Given the description of an element on the screen output the (x, y) to click on. 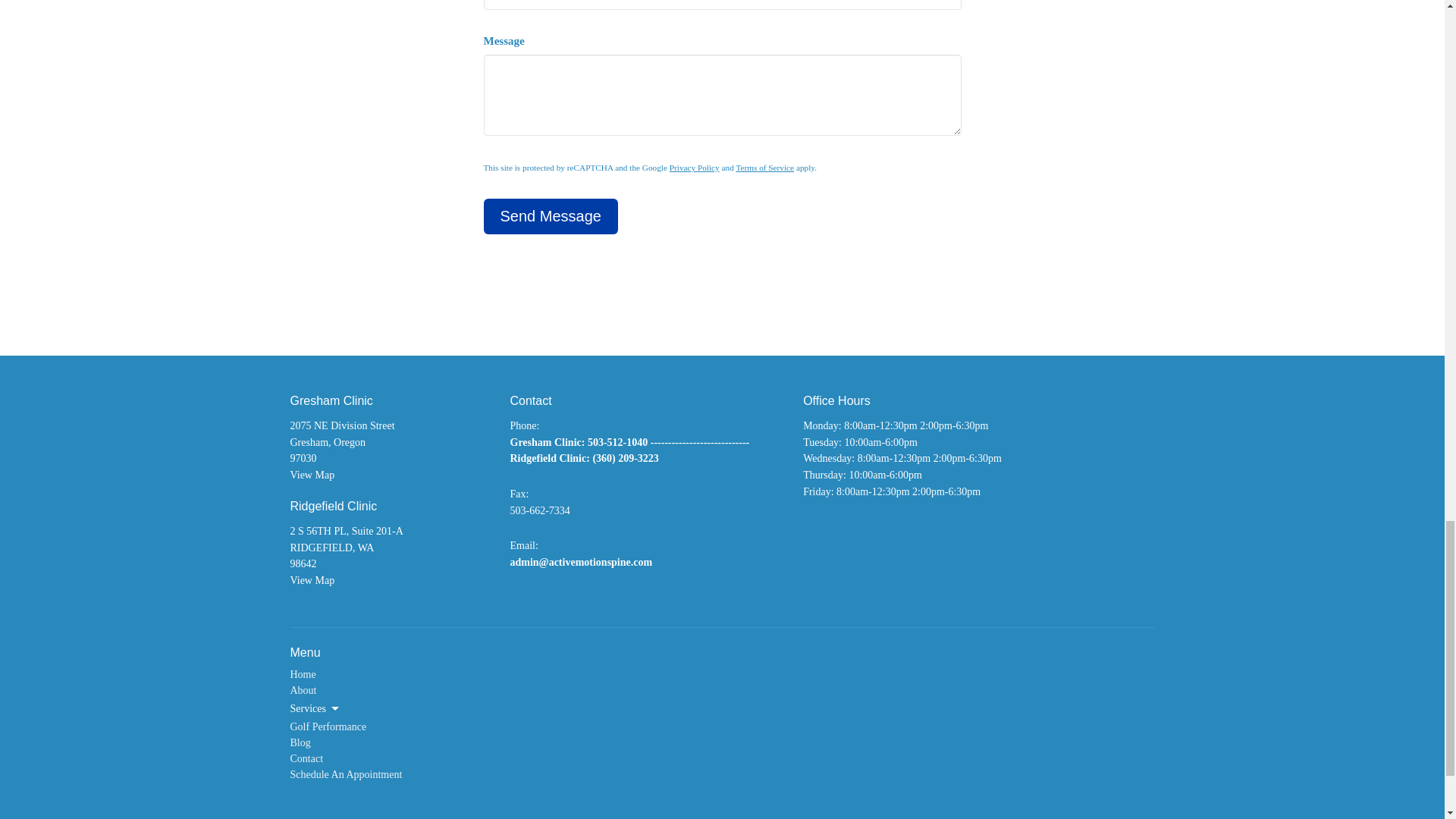
Services (314, 708)
translation missing: en.ui.fax (517, 493)
Blog (299, 742)
View Map (311, 580)
View Map (311, 474)
Contact (306, 758)
Terms of Service (764, 166)
About (302, 690)
Privacy Policy (694, 166)
Send Message (550, 216)
Home (302, 674)
Golf Performance (327, 726)
Schedule An Appointment (345, 774)
Send Message (550, 216)
